Given the description of an element on the screen output the (x, y) to click on. 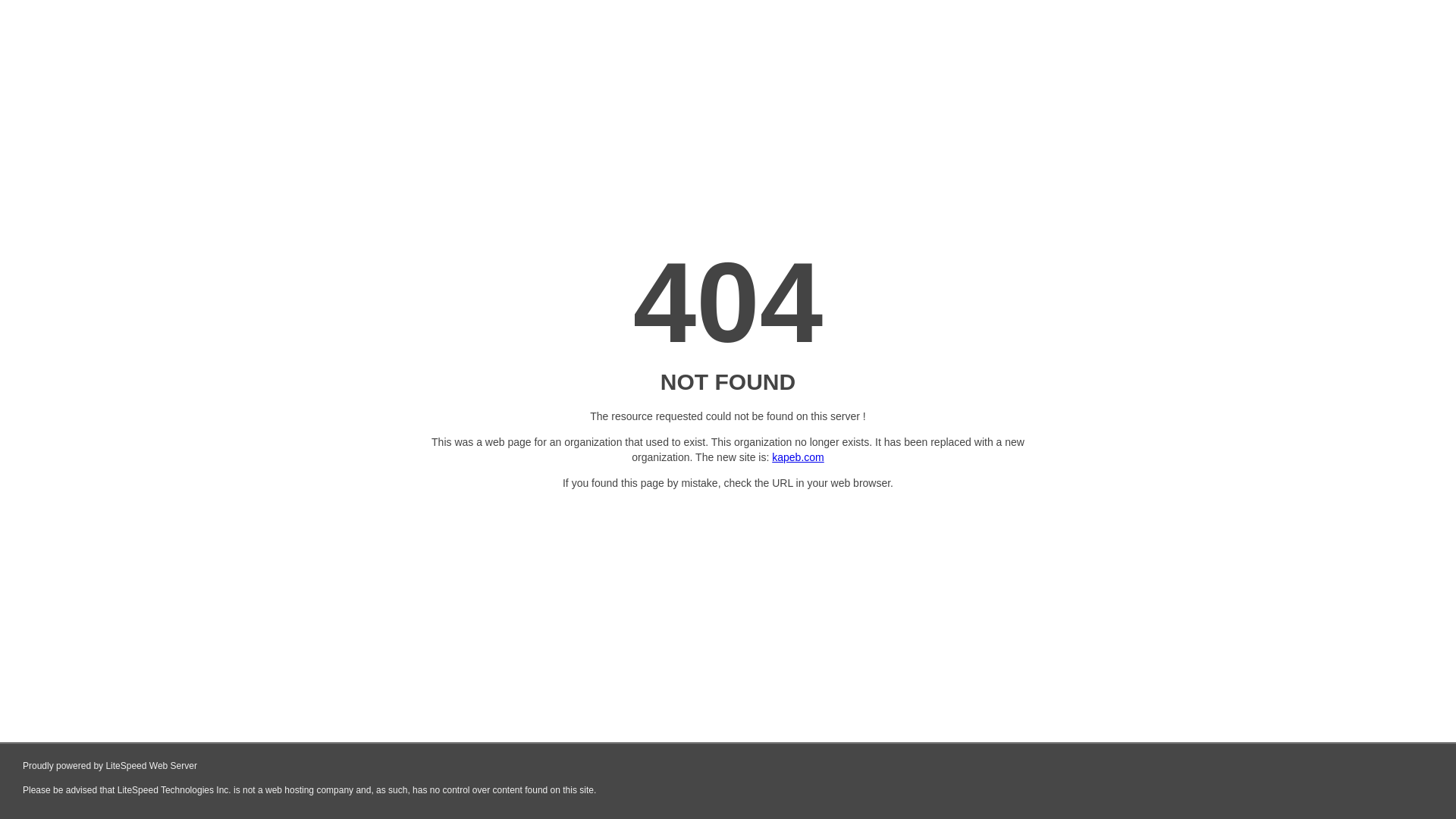
kapeb.com (797, 457)
